Given the description of an element on the screen output the (x, y) to click on. 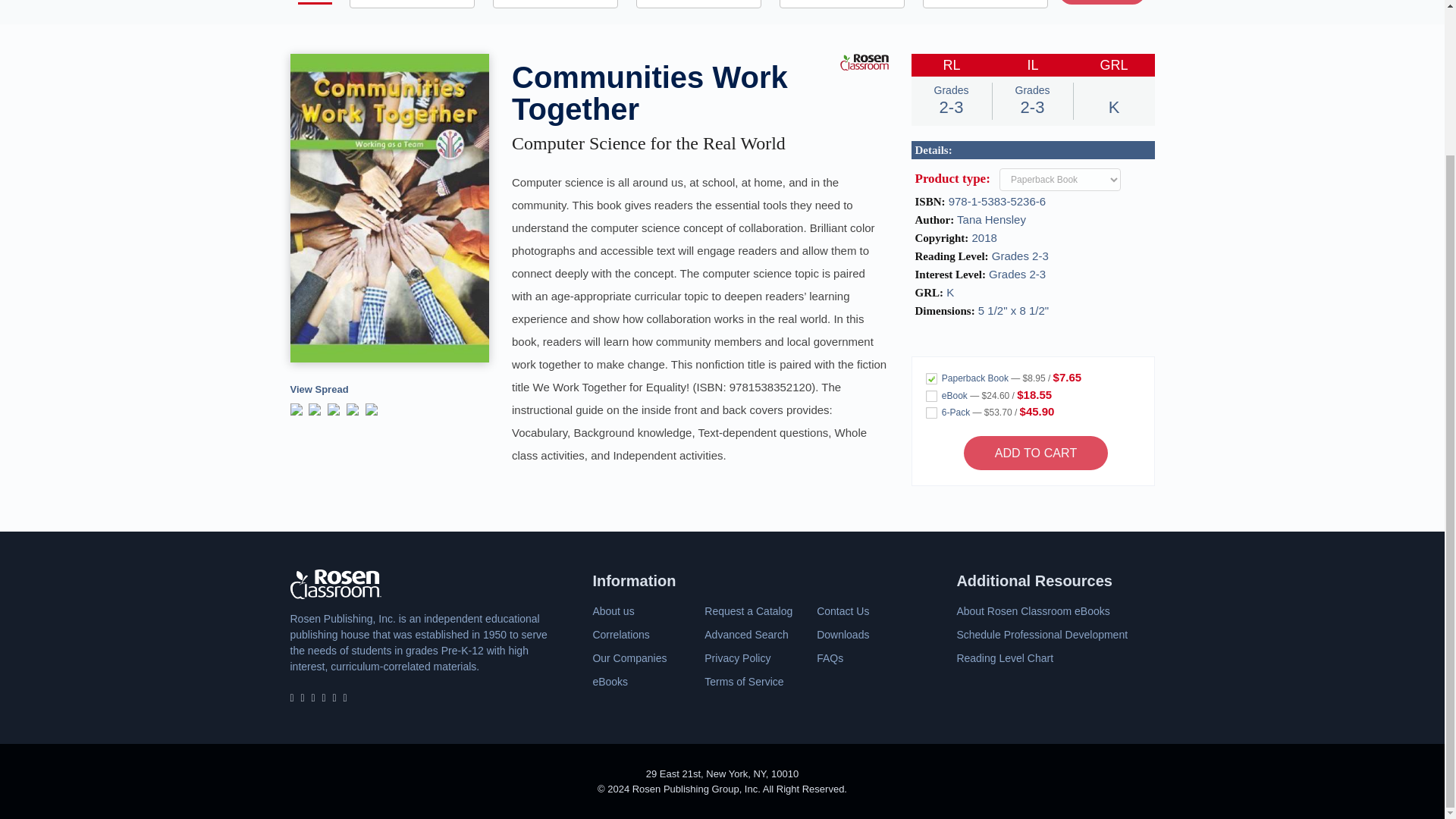
Computer Science for the Real World (649, 143)
Browse (1101, 2)
Add to cart (1035, 452)
Add to cart (1035, 452)
